Given the description of an element on the screen output the (x, y) to click on. 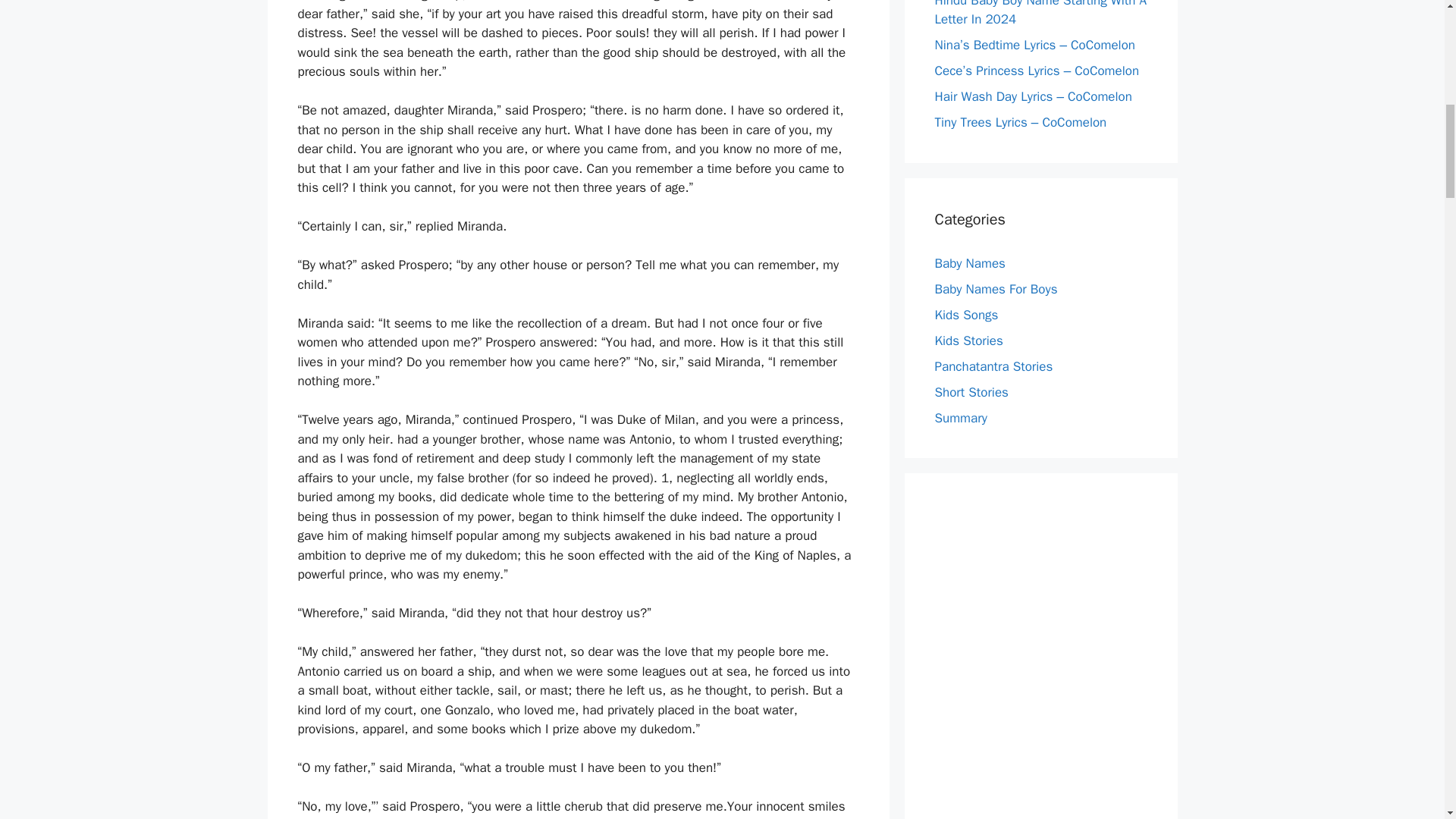
Kids Stories (968, 340)
Baby Names (969, 262)
Kids Songs (965, 314)
Baby Names For Boys (995, 288)
Panchatantra Stories (993, 365)
Hindu Baby Boy Name Starting With A Letter In 2024 (1039, 13)
Short Stories (970, 391)
Summary (960, 417)
